Given the description of an element on the screen output the (x, y) to click on. 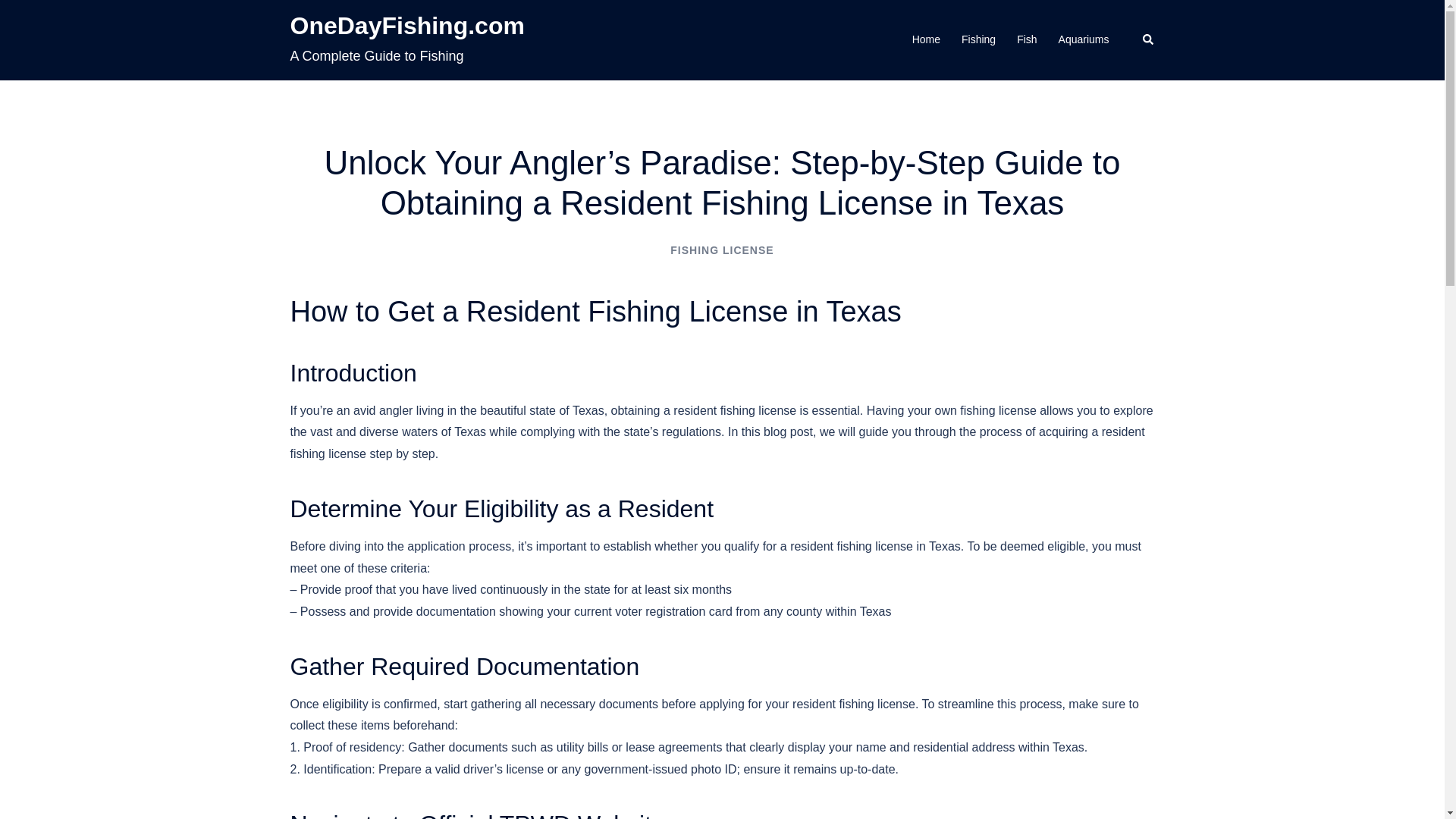
OneDayFishing.com (406, 25)
Home (926, 39)
Aquariums (1083, 39)
FISHING LICENSE (721, 250)
Fish (1026, 39)
Fishing (977, 39)
Search (1147, 39)
